Given the description of an element on the screen output the (x, y) to click on. 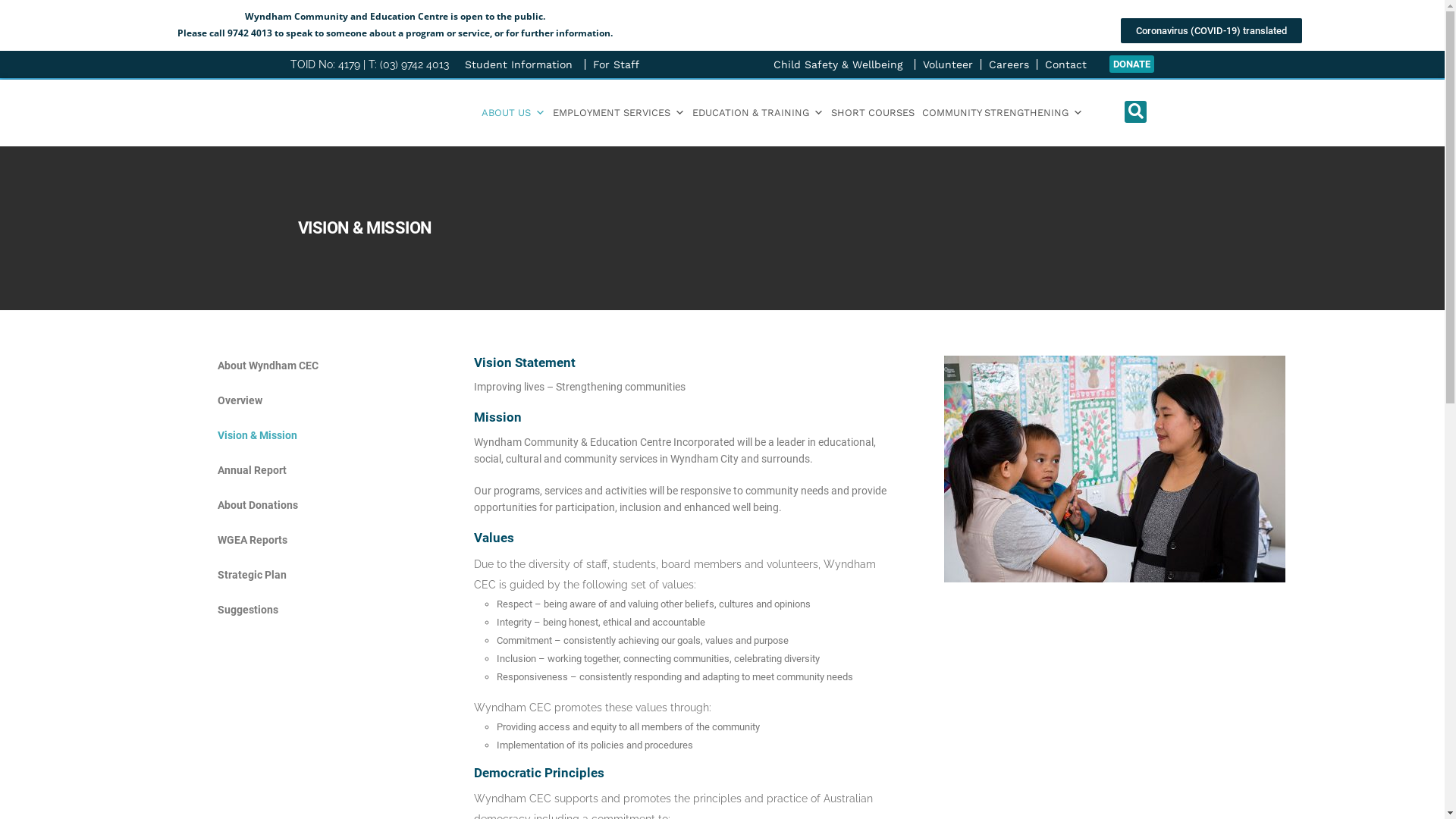
Overview Element type: text (277, 399)
Strategic Plan Element type: text (277, 574)
About Donations Element type: text (277, 504)
Volunteer Element type: text (947, 64)
Contact Element type: text (1065, 64)
EMPLOYMENT SERVICES Element type: text (618, 112)
Student Information Element type: text (520, 64)
DONATE Element type: text (1131, 63)
Child Safety & Wellbeing Element type: text (839, 64)
Careers Element type: text (1008, 64)
COMMUNITY STRENGTHENING Element type: text (1002, 112)
Coronavirus (COVID-19) translated Element type: text (1211, 30)
ABOUT US Element type: text (513, 112)
Vision & Mission Element type: text (277, 434)
SHORT COURSES Element type: text (872, 112)
EDUCATION & TRAINING Element type: text (757, 112)
Suggestions Element type: text (277, 609)
About Wyndham CEC Element type: text (277, 365)
For Staff Element type: text (618, 64)
Annual Report Element type: text (277, 469)
WGEA Reports Element type: text (277, 539)
